Given the description of an element on the screen output the (x, y) to click on. 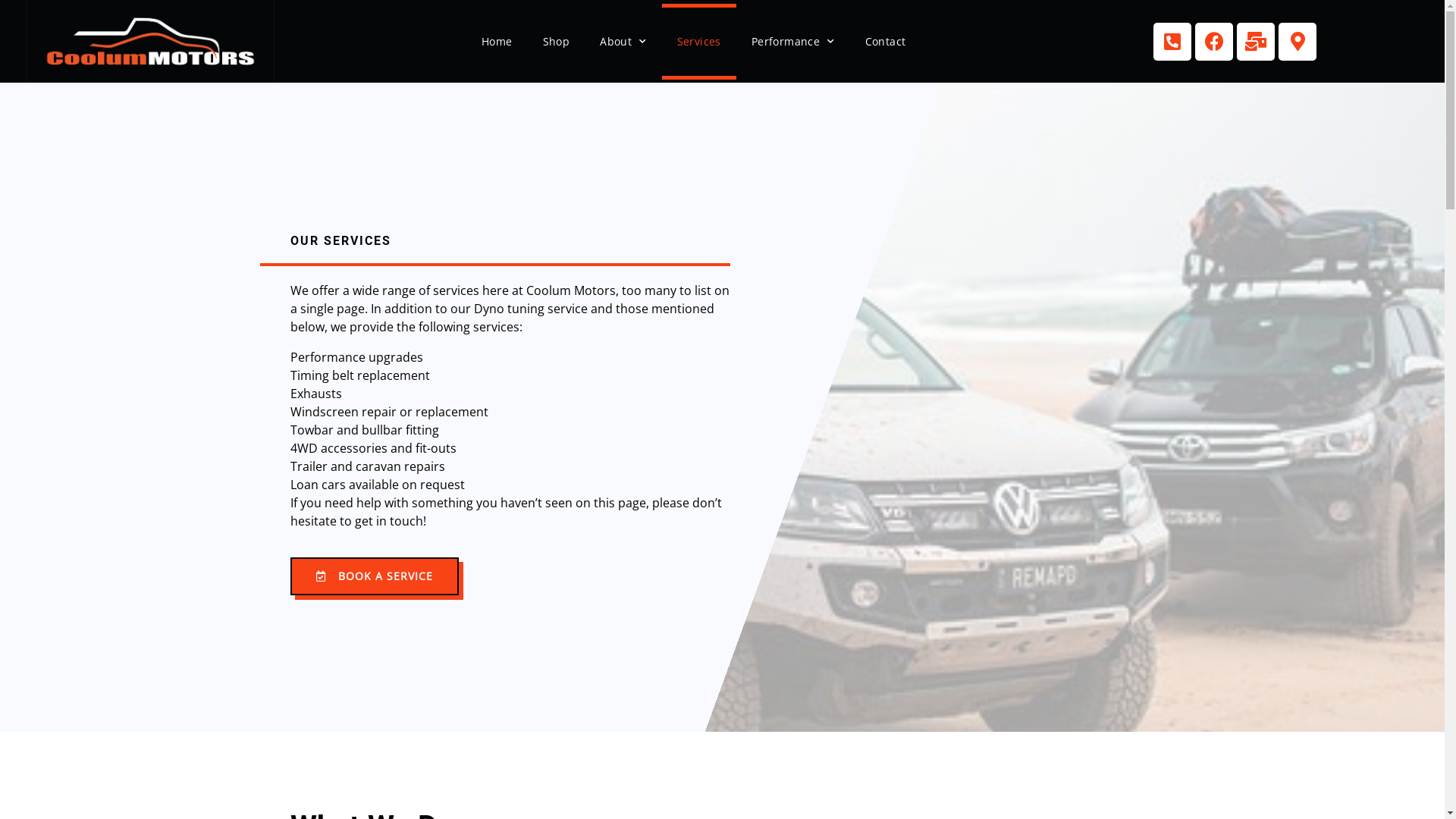
Home Element type: text (496, 41)
Services Element type: text (699, 41)
Shop Element type: text (556, 41)
BOOK A SERVICE Element type: text (373, 576)
Performance Element type: text (793, 41)
About Element type: text (622, 41)
Contact Element type: text (885, 41)
